Given the description of an element on the screen output the (x, y) to click on. 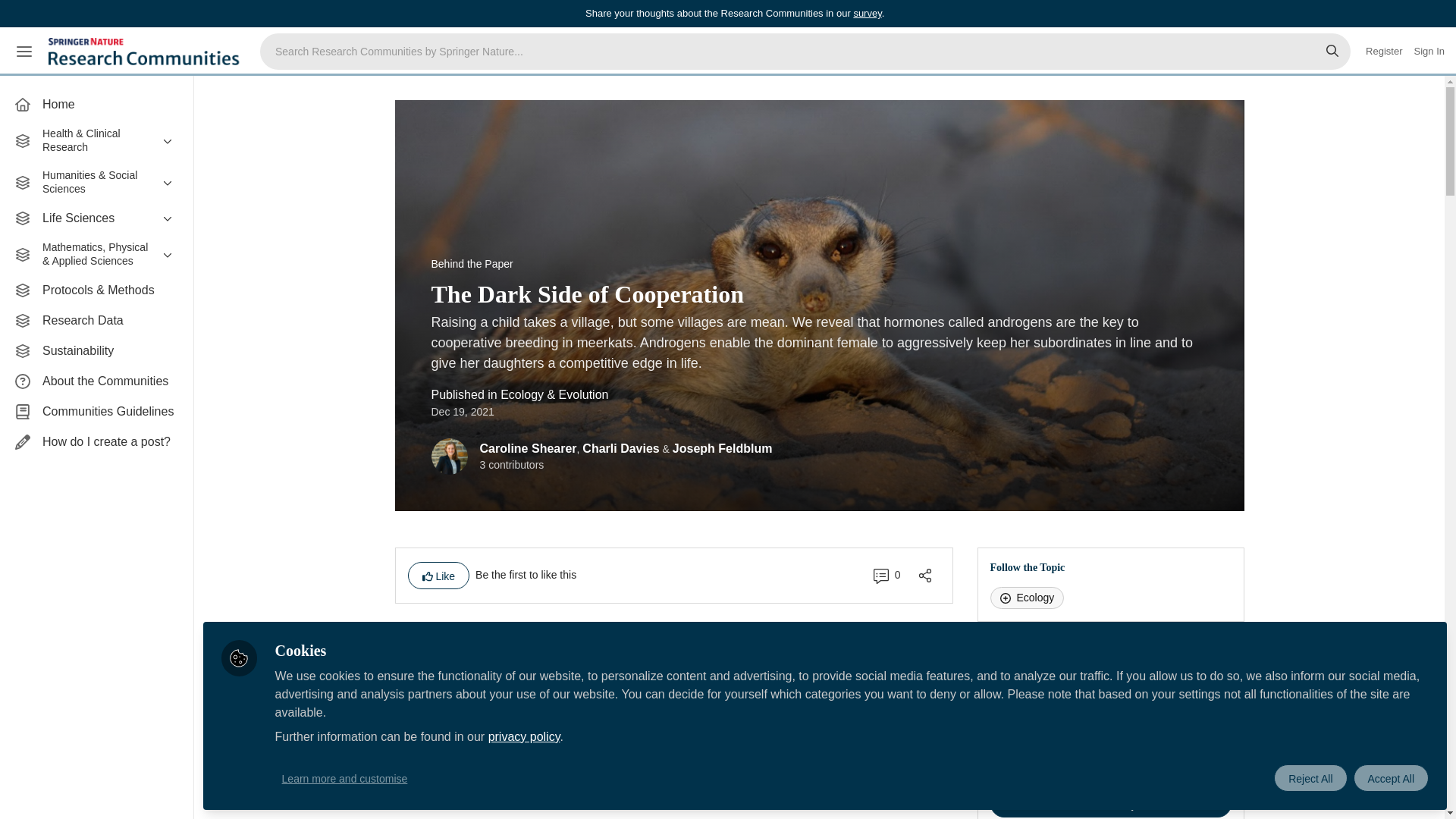
survey (866, 12)
Home (96, 103)
Life Sciences (96, 217)
Life Sciences (96, 217)
Home (96, 103)
Menu (24, 51)
Research Communities by Springer Nature (146, 51)
Search (1332, 51)
